Given the description of an element on the screen output the (x, y) to click on. 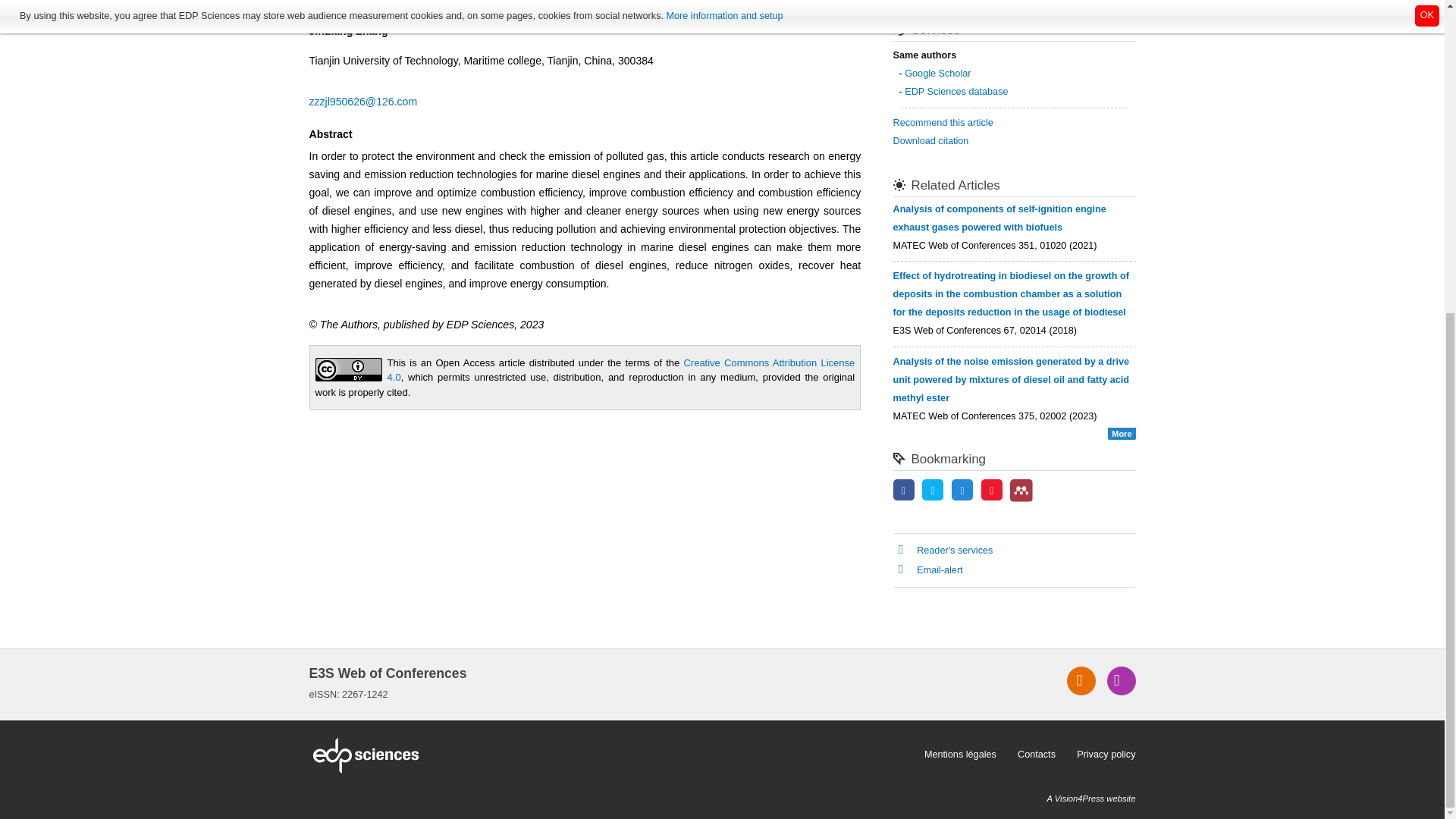
Mendeley (1021, 490)
